Given the description of an element on the screen output the (x, y) to click on. 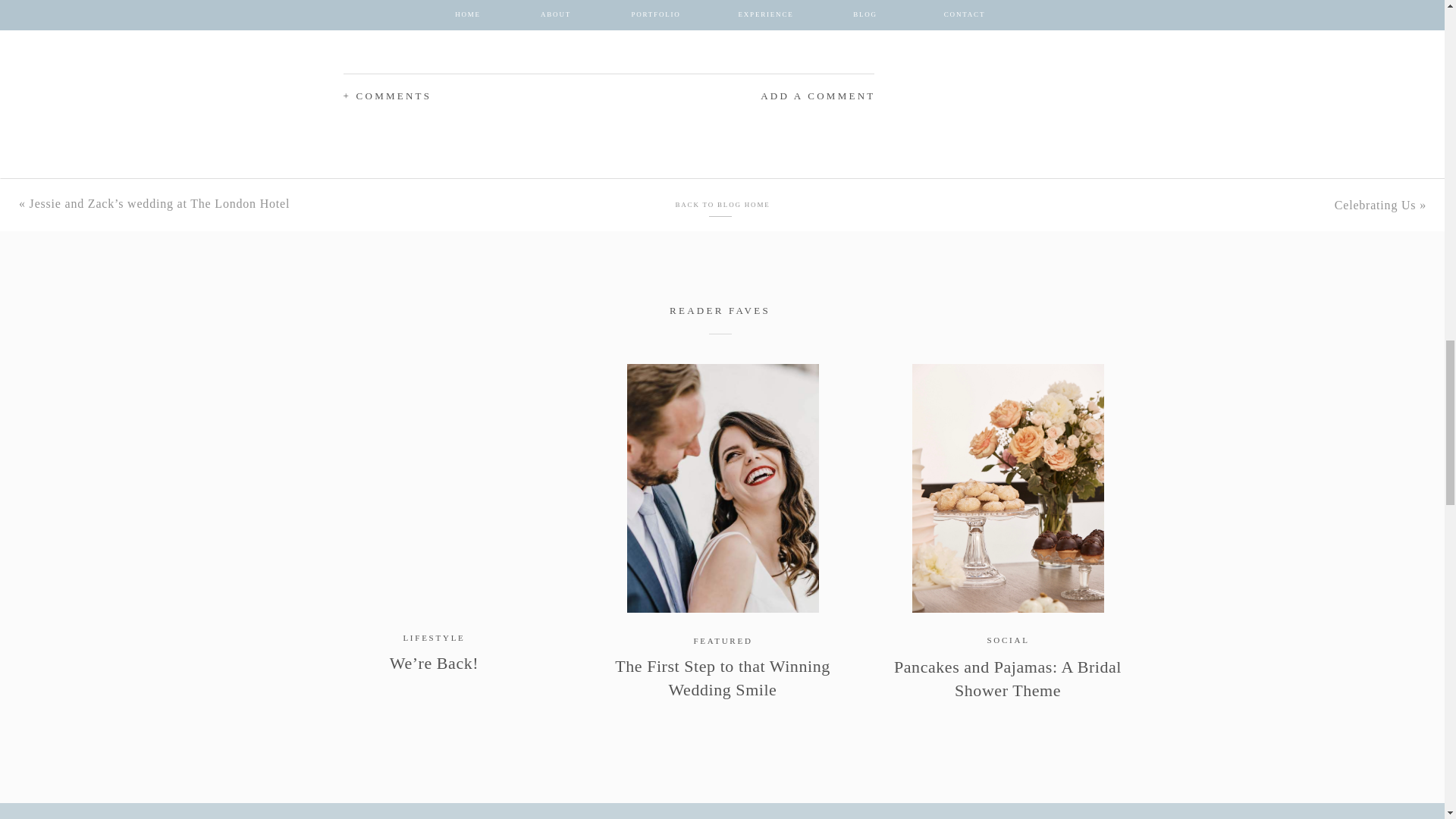
Celebrating Us (1375, 205)
ADD A COMMENT (776, 96)
